Given the description of an element on the screen output the (x, y) to click on. 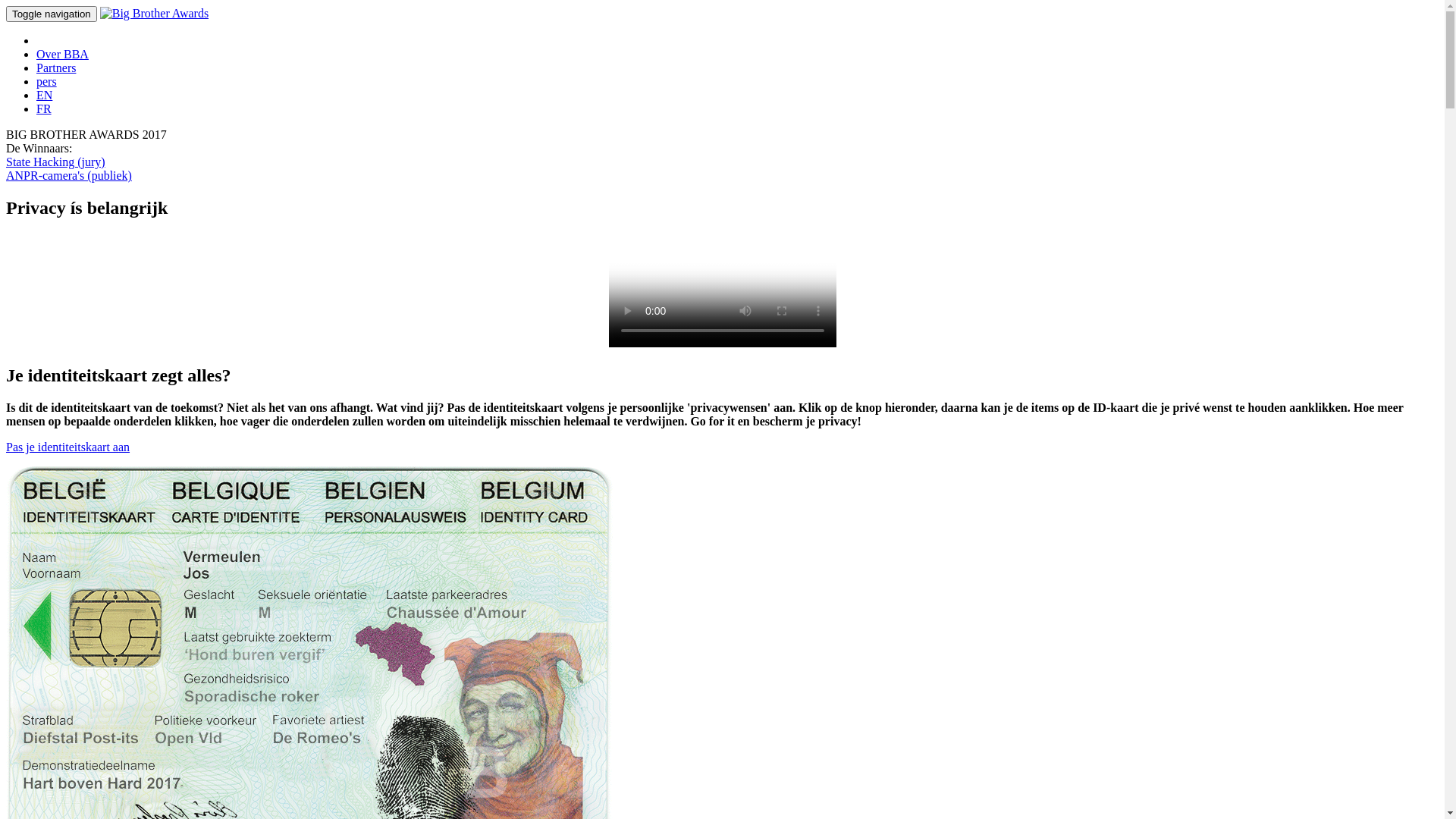
Toggle navigation Element type: text (51, 13)
Over BBA Element type: text (62, 53)
ANPR-camera's (publiek) Element type: text (68, 175)
Partners Element type: text (55, 67)
State Hacking (jury) Element type: text (55, 161)
Pas je identiteitskaart aan Element type: text (67, 446)
pers Element type: text (46, 81)
EN Element type: text (44, 94)
FR Element type: text (43, 108)
